Given the description of an element on the screen output the (x, y) to click on. 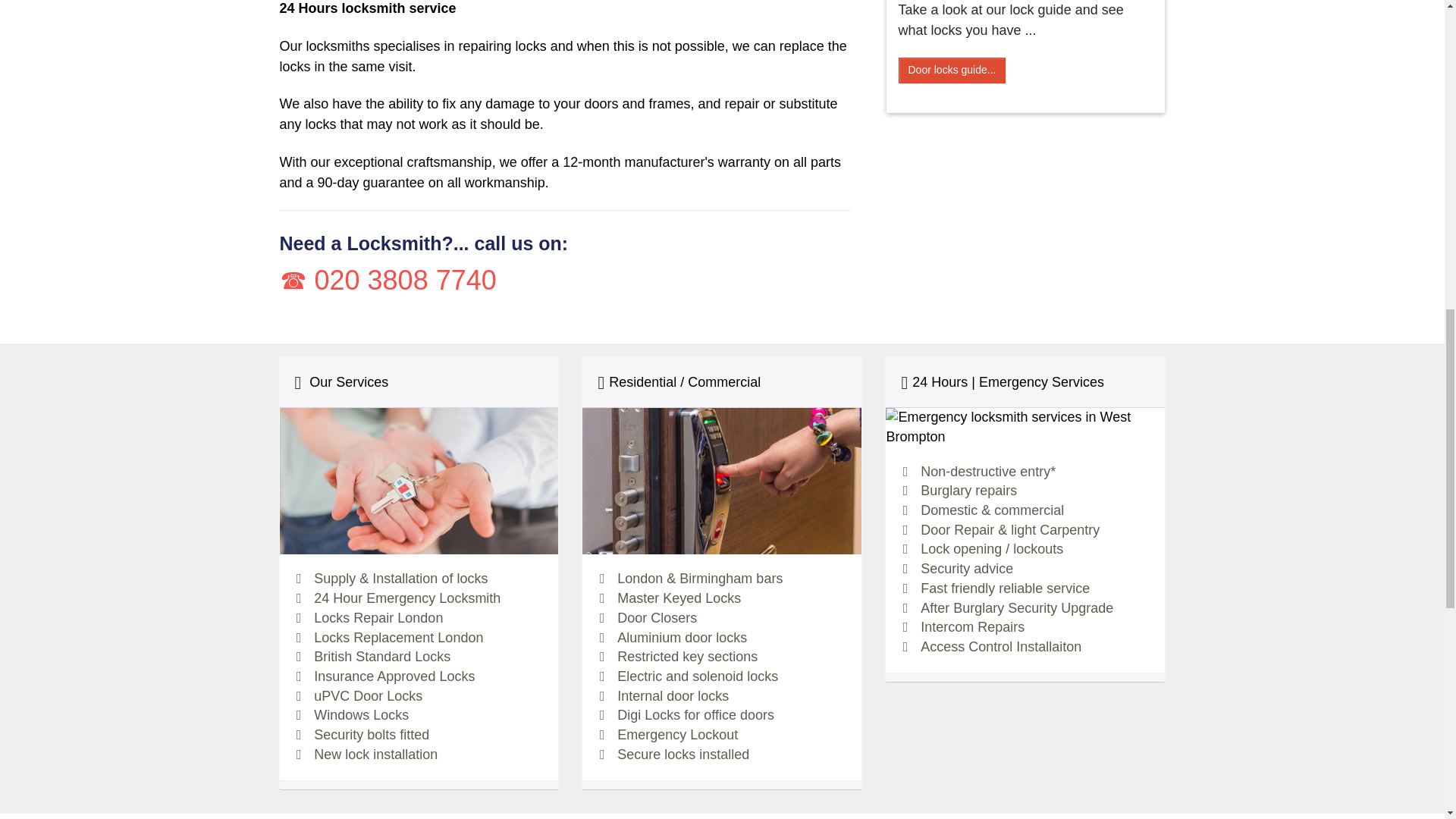
Door locks guide... (952, 70)
